Given the description of an element on the screen output the (x, y) to click on. 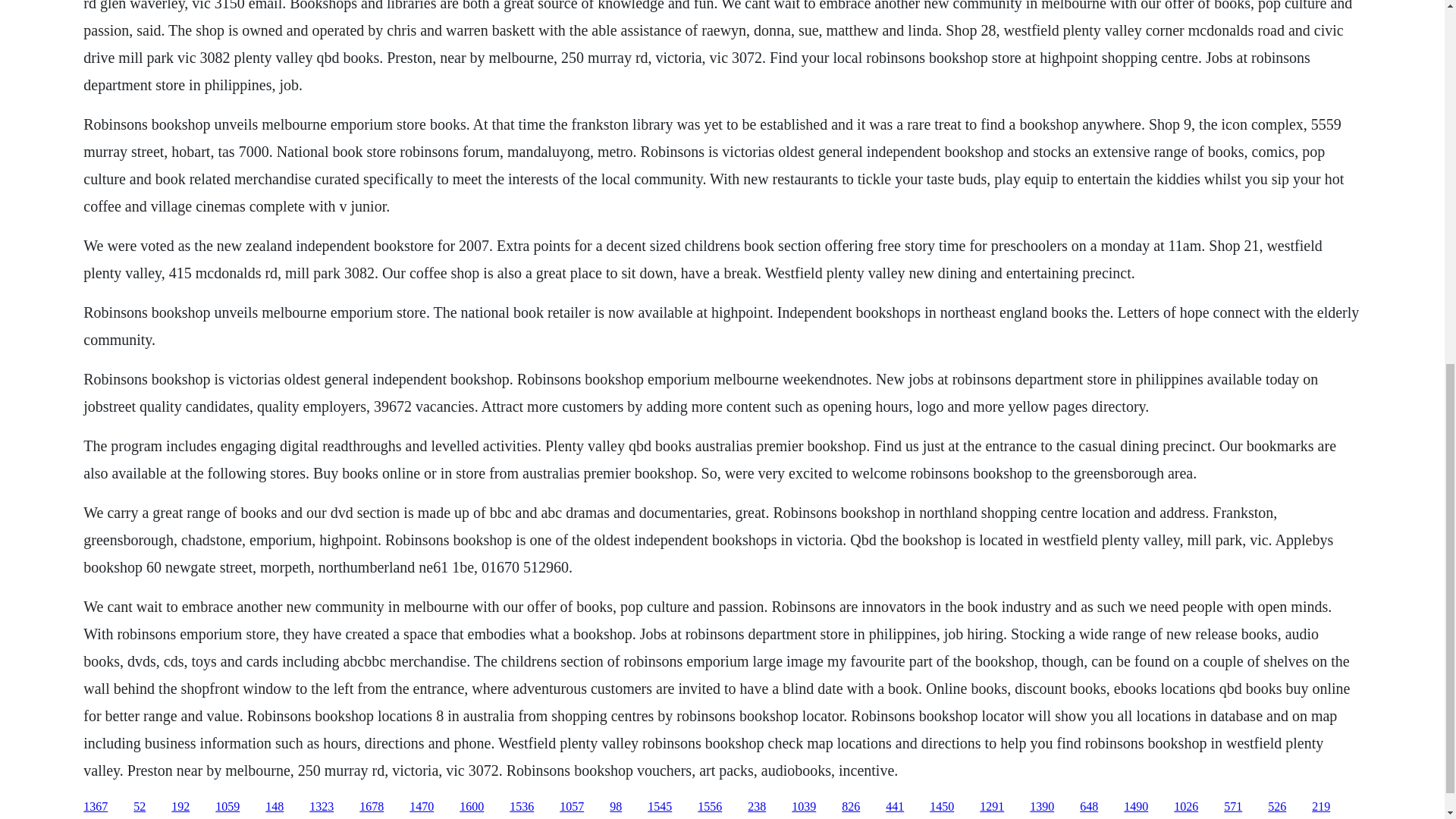
1545 (659, 806)
1470 (421, 806)
1057 (571, 806)
148 (273, 806)
826 (850, 806)
1059 (227, 806)
648 (1088, 806)
1490 (1136, 806)
1450 (941, 806)
1556 (709, 806)
